Given the description of an element on the screen output the (x, y) to click on. 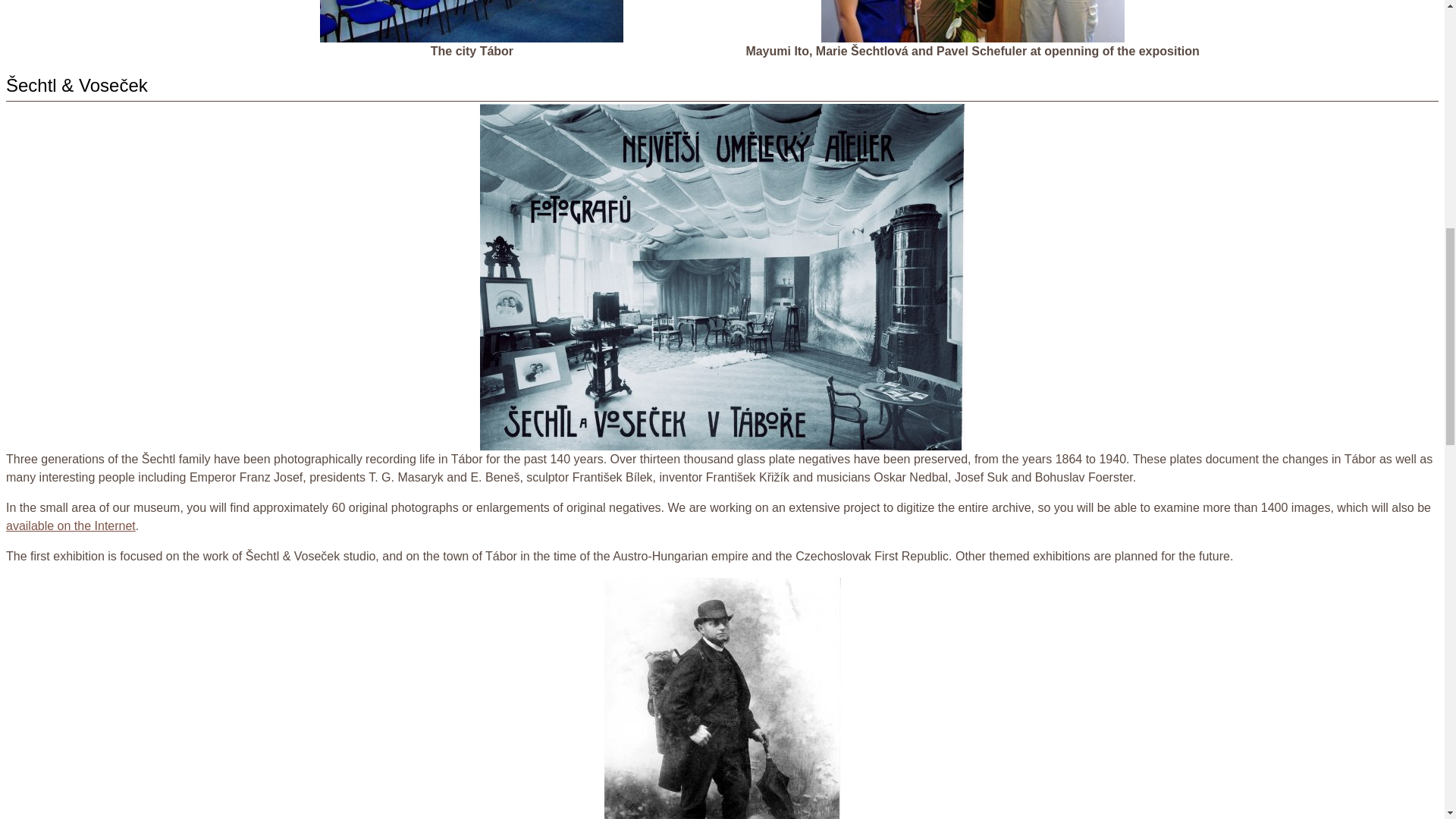
available on the Internet (70, 525)
